Given the description of an element on the screen output the (x, y) to click on. 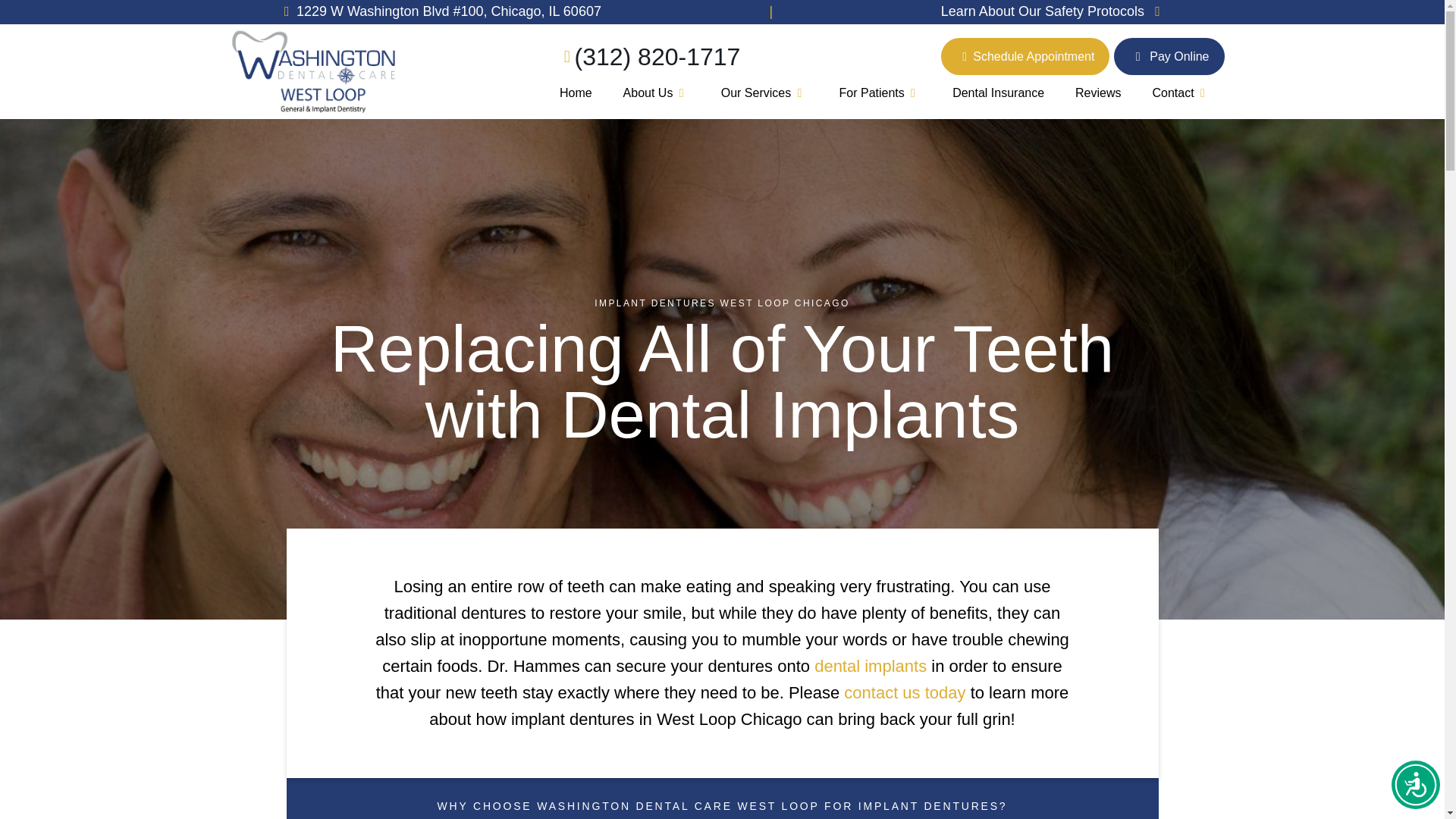
Home (576, 92)
Schedule Appointment (1024, 56)
Pay Online (1168, 56)
Accessibility Menu (1415, 784)
Dentist West Loop Chicago (576, 92)
About Us (655, 92)
Our Services (764, 92)
Dental Services (764, 92)
For Patients (880, 92)
About Us (655, 92)
Learn About Our Safety Protocols (1053, 12)
